Given the description of an element on the screen output the (x, y) to click on. 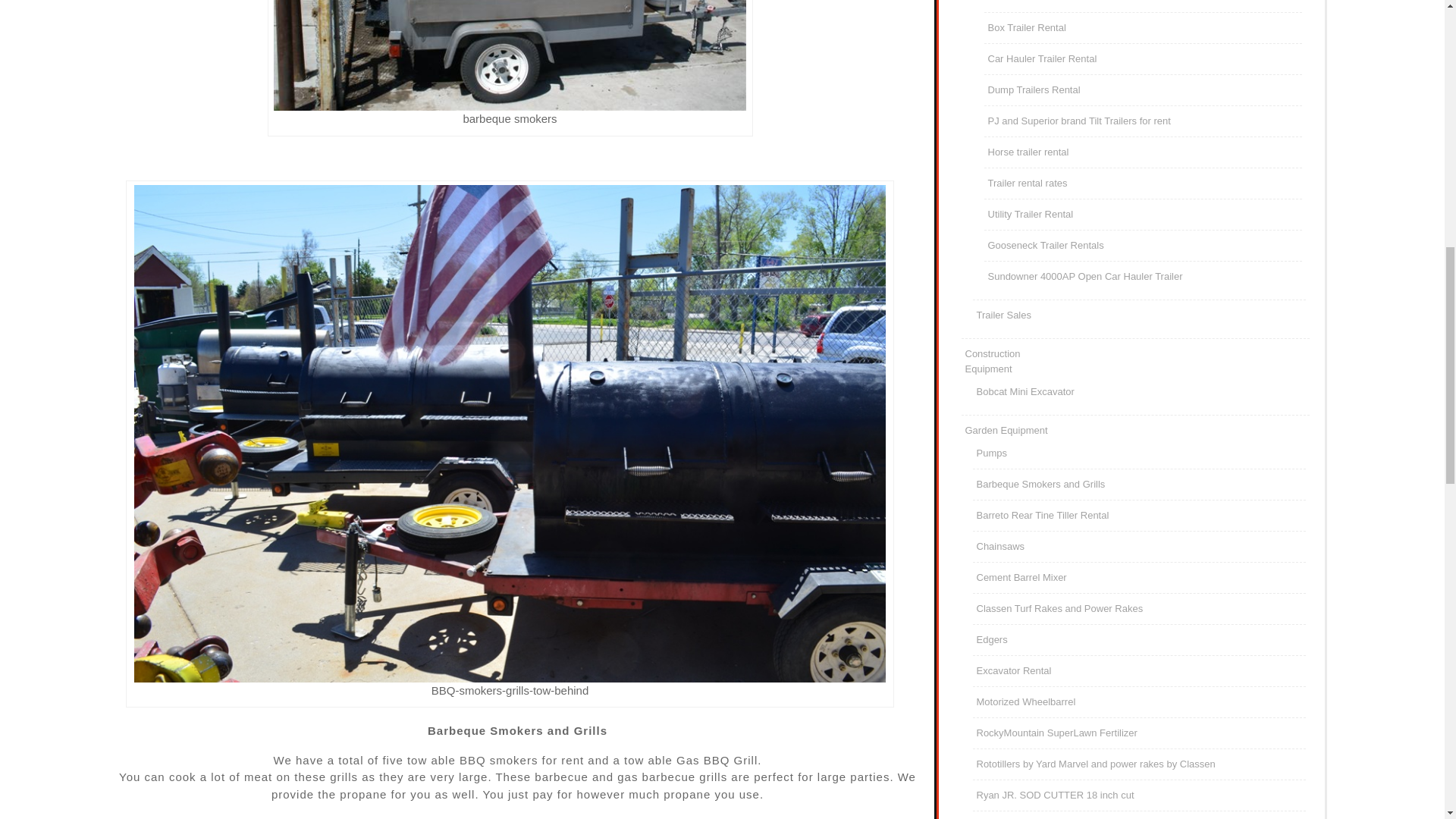
Classen Turf Rakes and Power Rakes (1059, 608)
Chainsaws (1000, 546)
Garden Equipment (1004, 430)
Car Hauler Trailer Rental (1041, 58)
Box Trailer Rental (991, 361)
Air-Tow Trailer rental (1026, 27)
Cement Barrel Mixer (1032, 1)
Sundowner 4000AP Open Car Hauler Trailer (1021, 577)
Trailer rental rates (1084, 276)
